Given the description of an element on the screen output the (x, y) to click on. 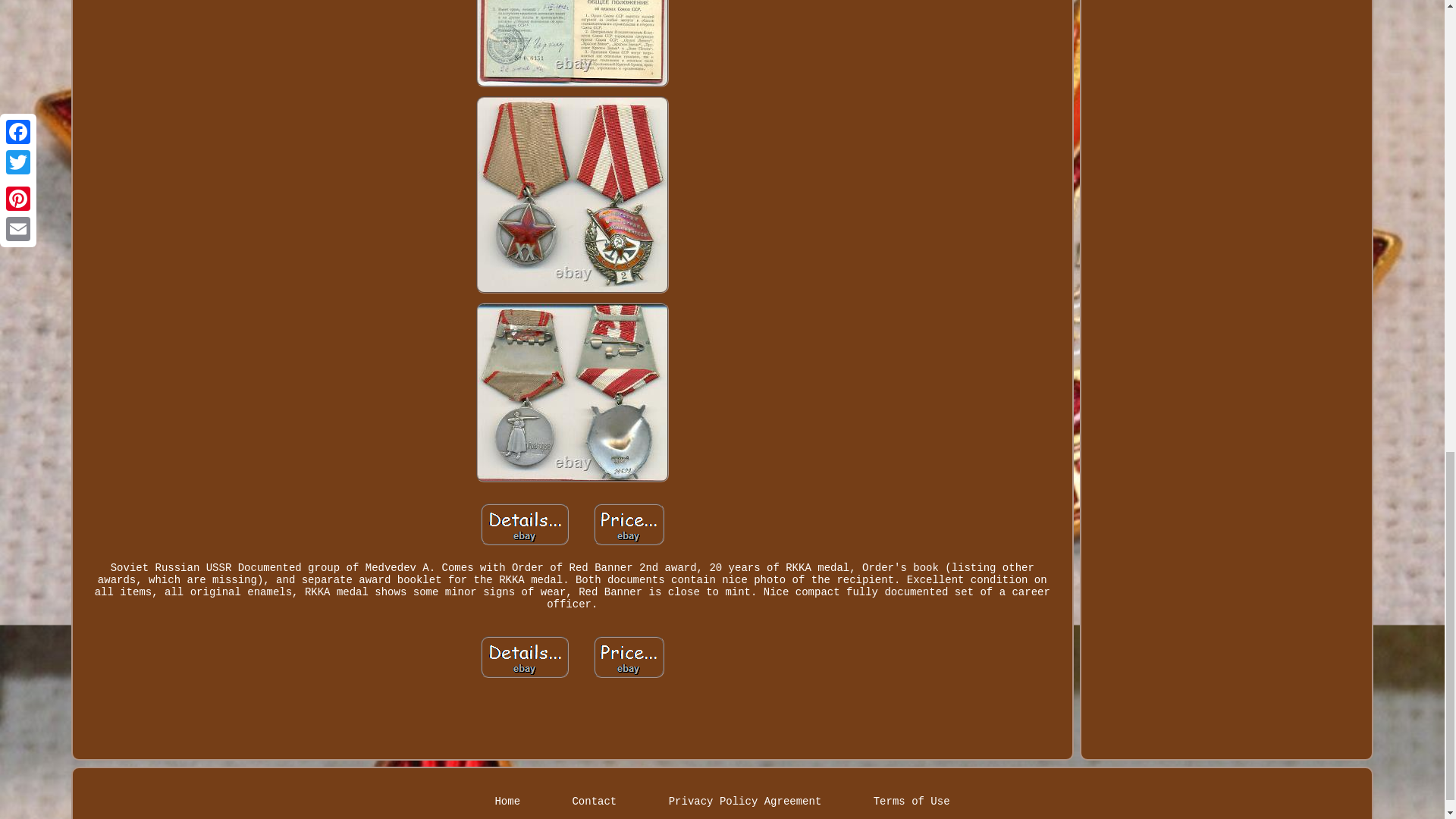
Soviet Russian USSR Documented group of Medvedev A. P (524, 656)
Soviet Russian USSR Documented group of Medvedev A. P (572, 391)
Soviet Russian USSR Documented group of Medvedev A. P (628, 524)
Soviet Russian USSR Documented group of Medvedev A. P (524, 524)
Soviet Russian USSR Documented group of Medvedev A. P (628, 656)
Soviet Russian USSR Documented group of Medvedev A. P (572, 193)
Soviet Russian USSR Documented group of Medvedev A. P (572, 43)
